Given the description of an element on the screen output the (x, y) to click on. 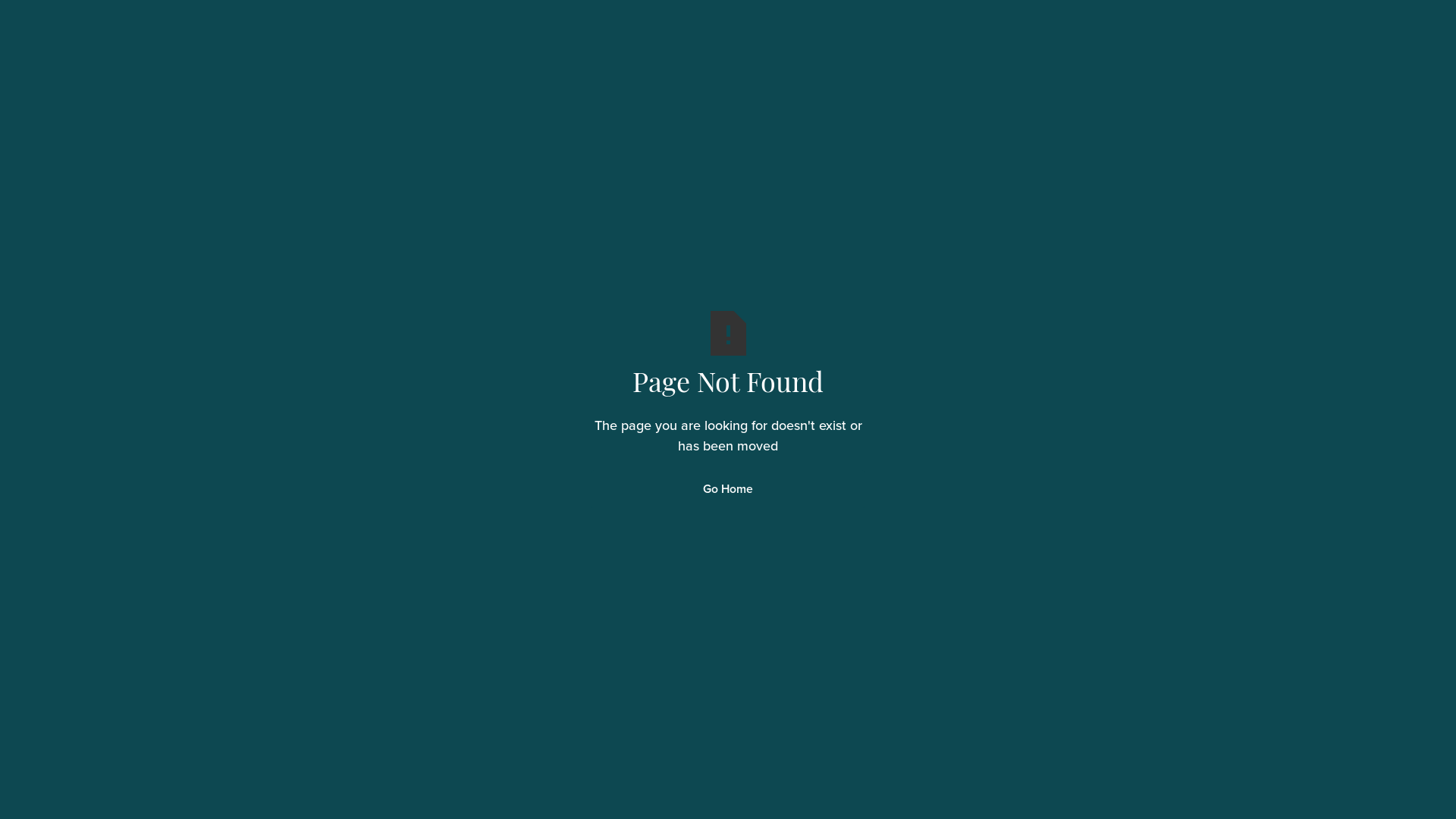
Go Home Element type: text (727, 489)
